Given the description of an element on the screen output the (x, y) to click on. 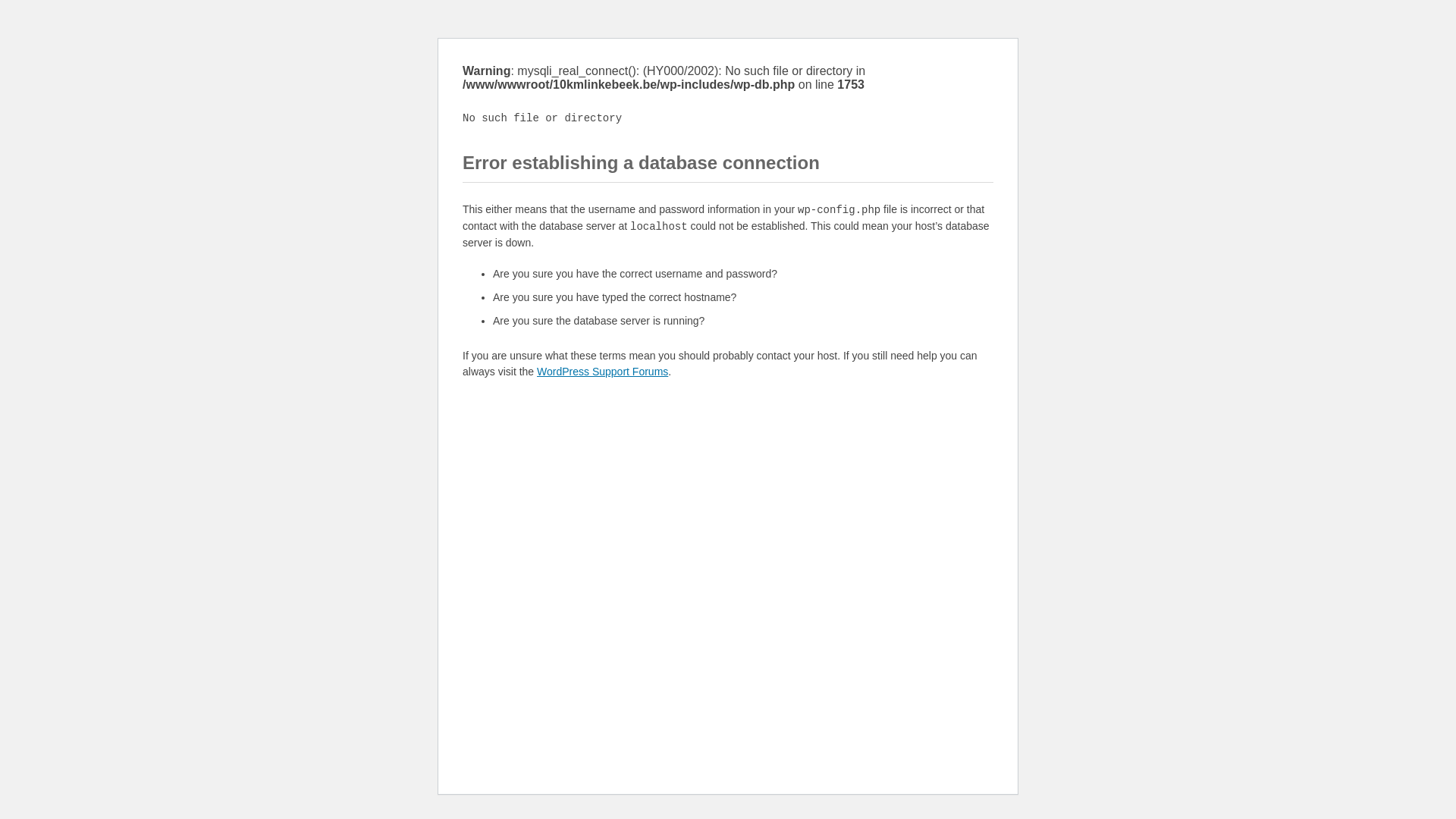
WordPress Support Forums Element type: text (602, 371)
